Given the description of an element on the screen output the (x, y) to click on. 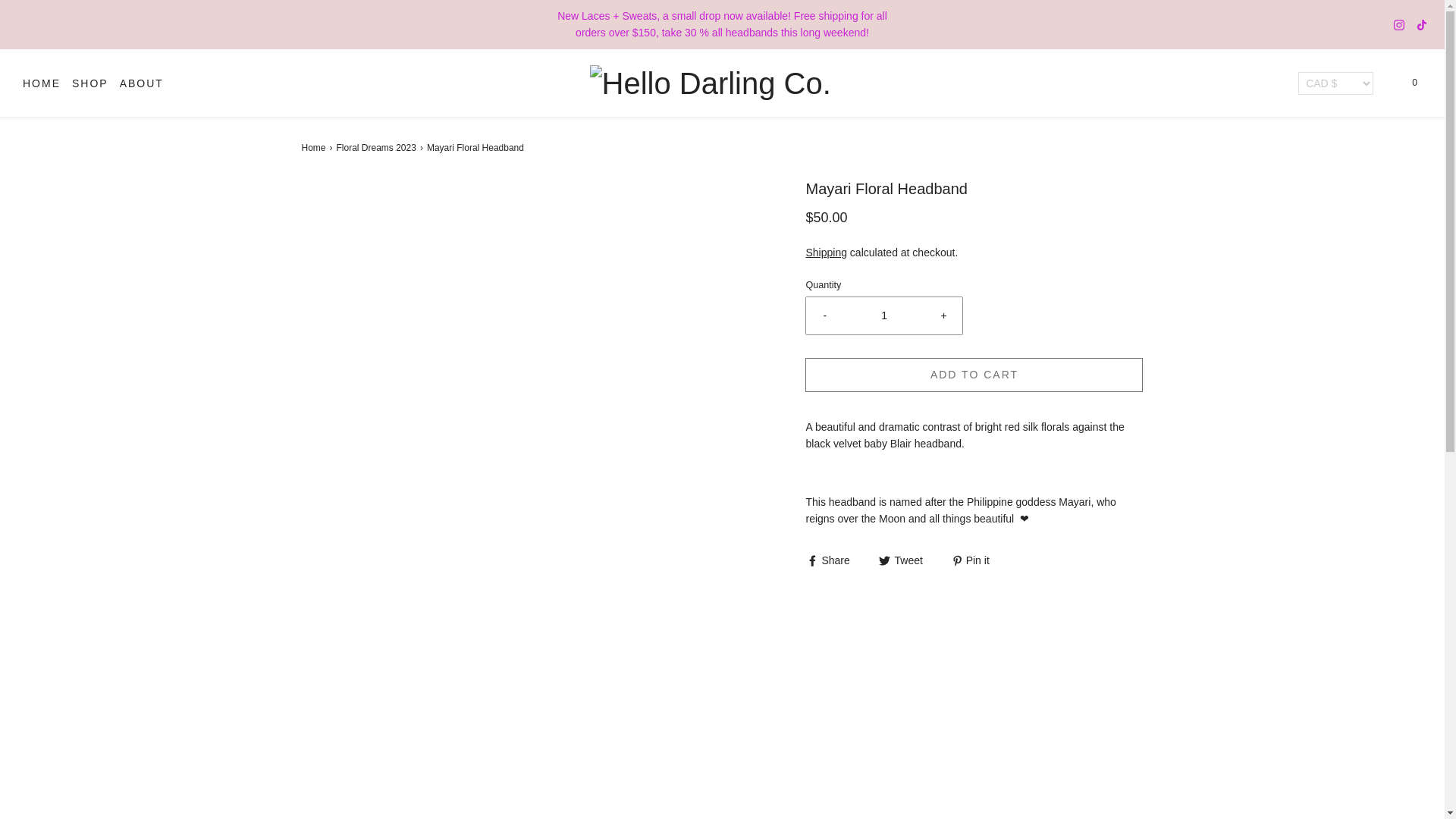
Cart (1413, 82)
Back to the frontpage (315, 147)
Instagram icon (1399, 24)
TikTok icon (1421, 24)
Instagram icon (1399, 24)
TikTok icon (1421, 24)
1 (884, 315)
